Given the description of an element on the screen output the (x, y) to click on. 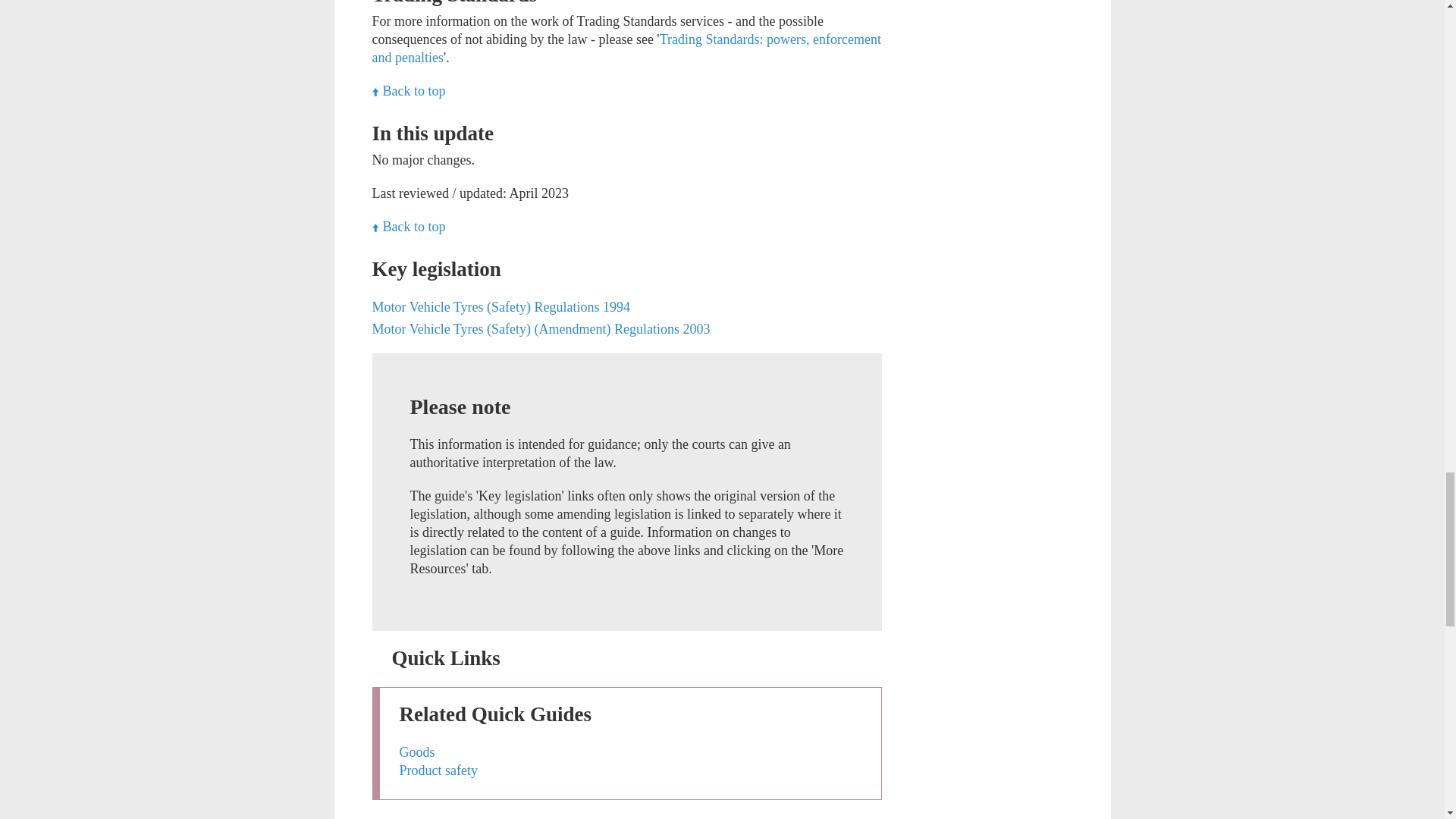
Goods (415, 752)
Product safety (437, 770)
Trading Standards: powers, enforcement and penalties (625, 48)
Back to top (408, 225)
Back to top (408, 225)
Back to top (408, 90)
Back to top (408, 90)
